Given the description of an element on the screen output the (x, y) to click on. 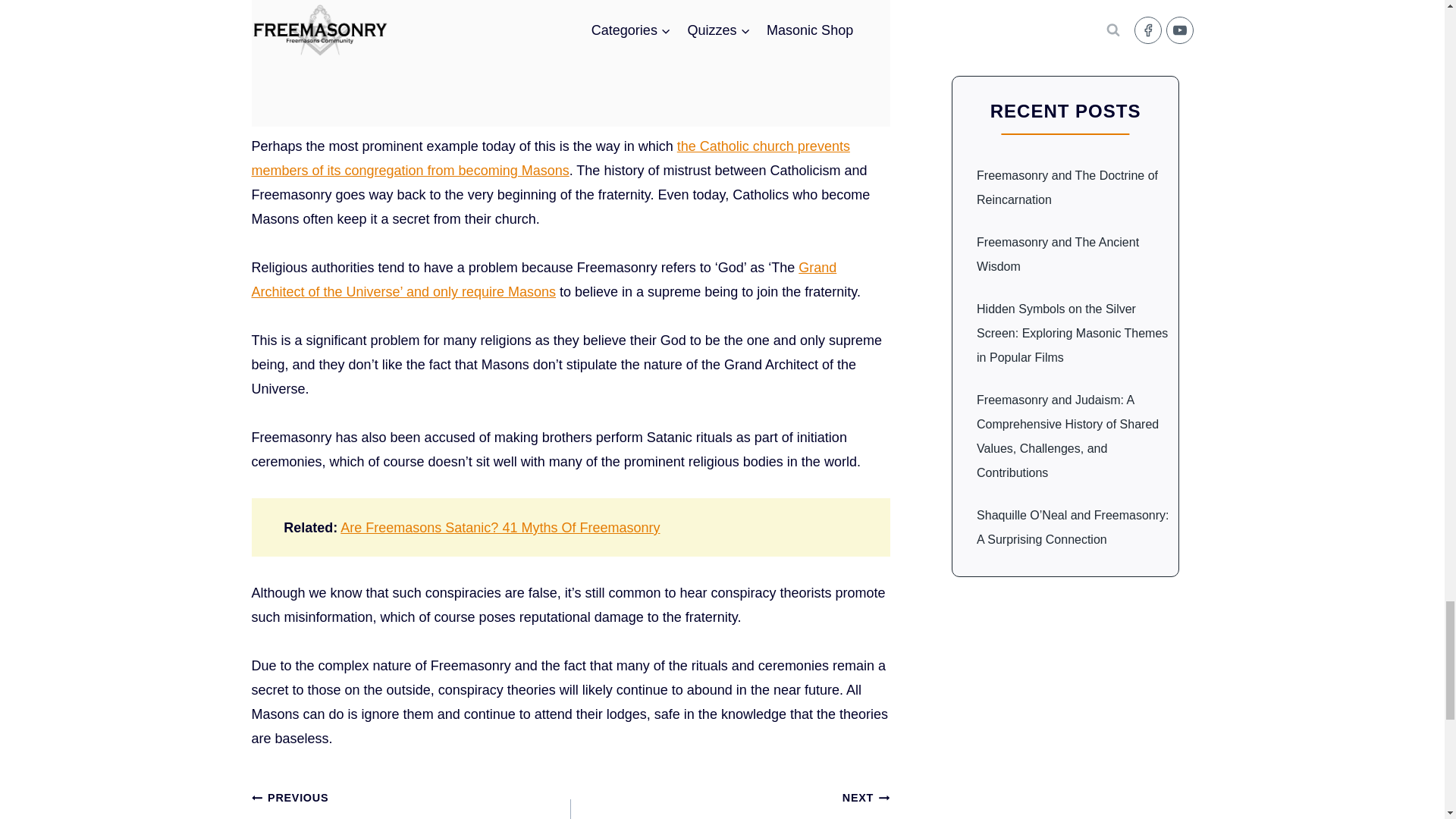
Are Freemasons Satanic? 41 Myths Of Freemasonry (499, 527)
